Given the description of an element on the screen output the (x, y) to click on. 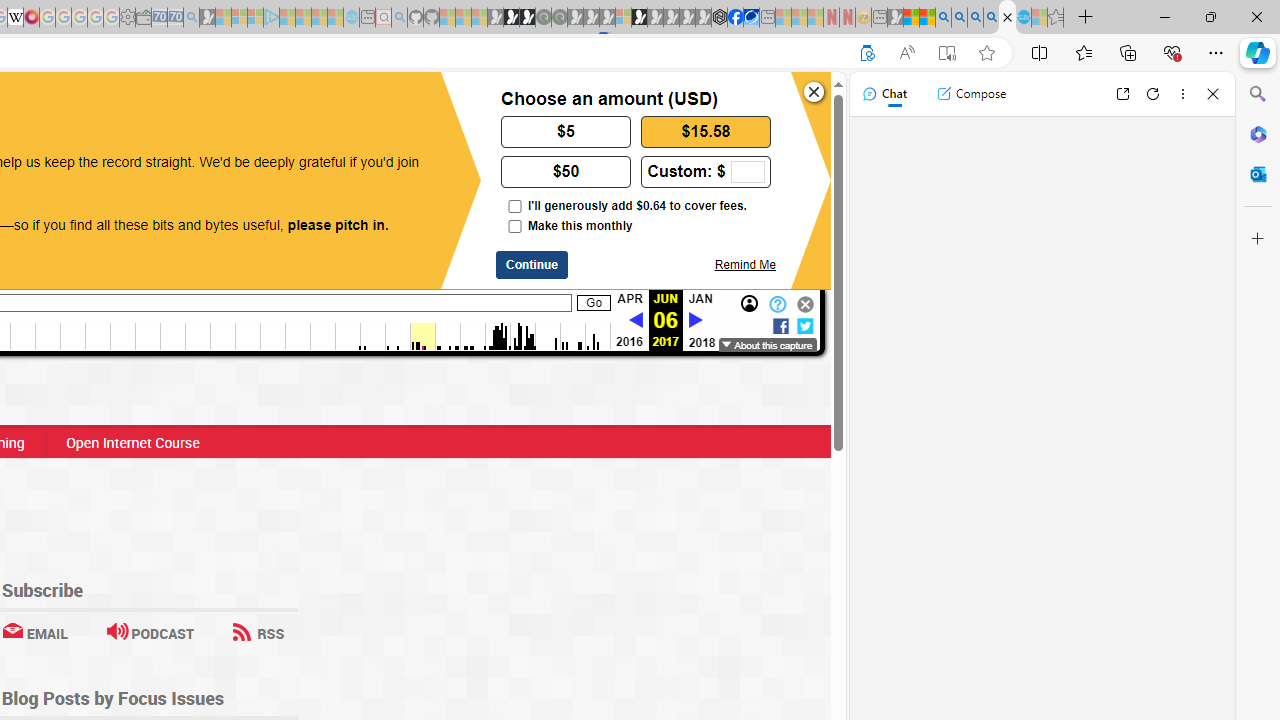
RSS (258, 632)
Previous capture (635, 321)
Press - Public Knowledge (1007, 17)
